Given the description of an element on the screen output the (x, y) to click on. 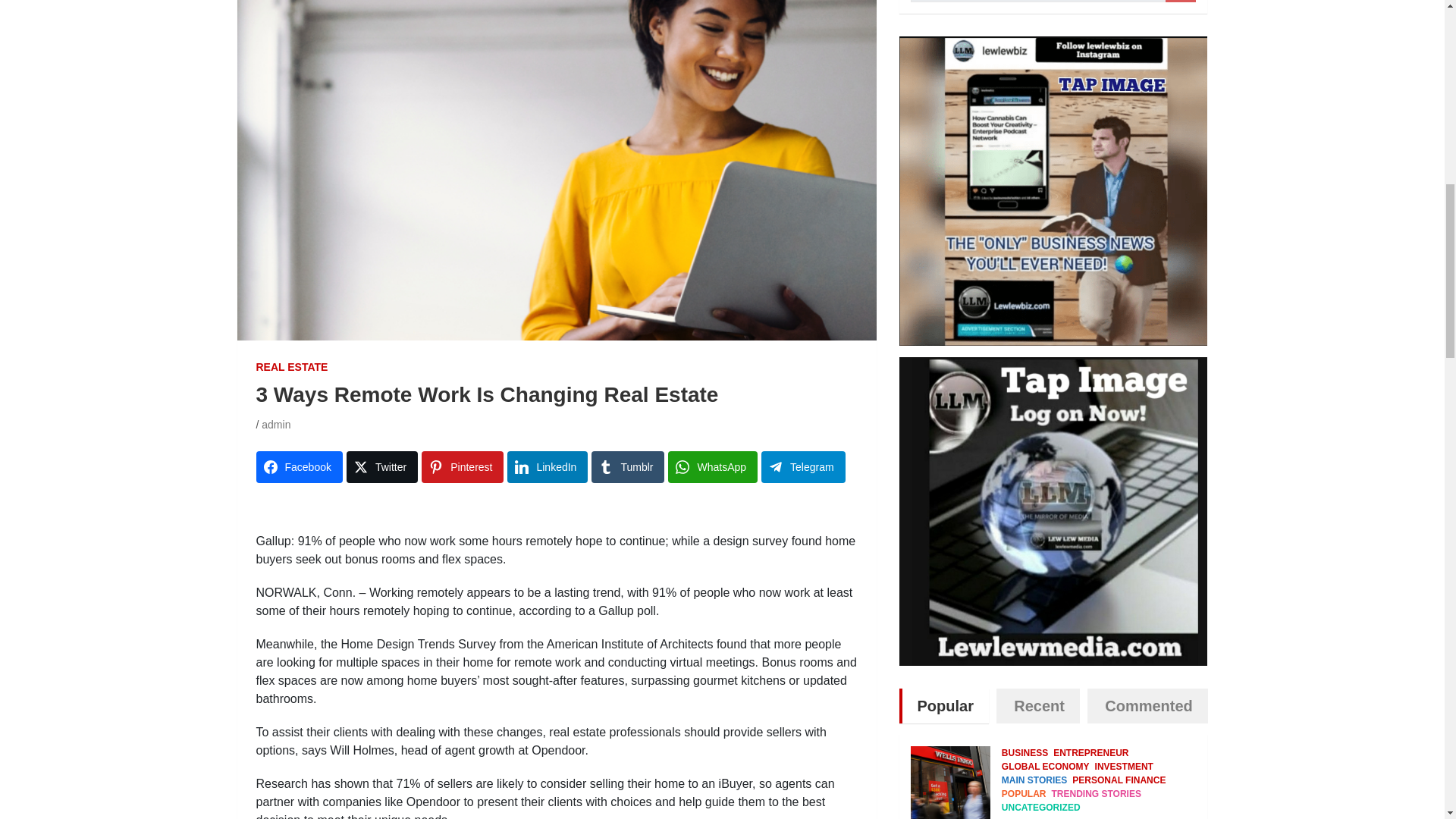
Share on LinkedIn (547, 467)
Share on Pinterest (462, 467)
Share on Tumblr (627, 467)
Pinterest (462, 467)
Twitter (381, 467)
admin (275, 424)
Share on Telegram (803, 467)
Share on Twitter (381, 467)
Facebook (299, 467)
Tumblr (627, 467)
Share on Facebook (299, 467)
LinkedIn (547, 467)
Share on WhatsApp (712, 467)
WhatsApp (712, 467)
REAL ESTATE (292, 367)
